Given the description of an element on the screen output the (x, y) to click on. 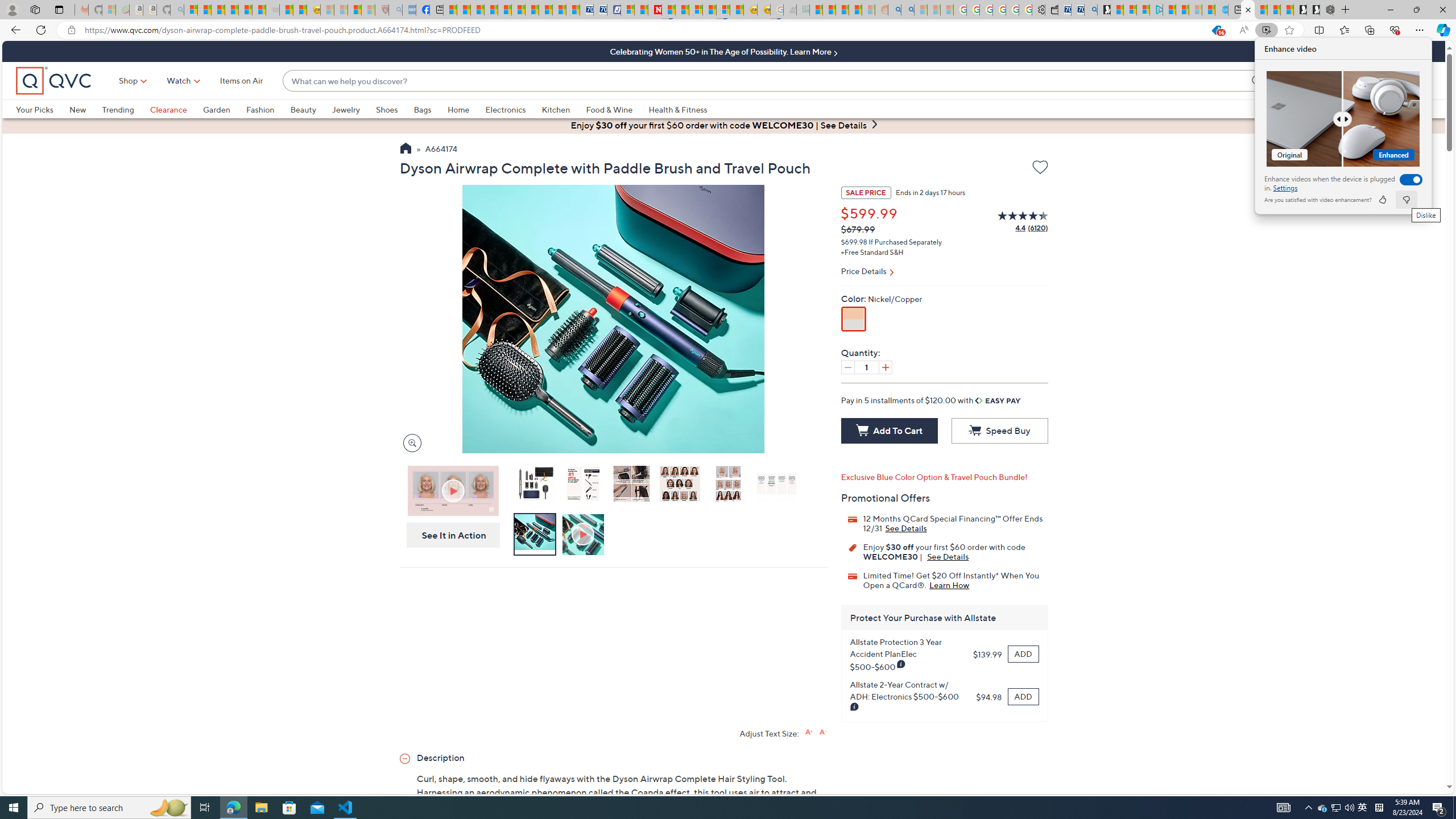
Quantity (866, 367)
Clearance (1322, 807)
Bing Real Estate - Home sales and rental listings (175, 109)
Food & Wine (1090, 9)
Fashion (609, 109)
Decrease font size (268, 109)
